Given the description of an element on the screen output the (x, y) to click on. 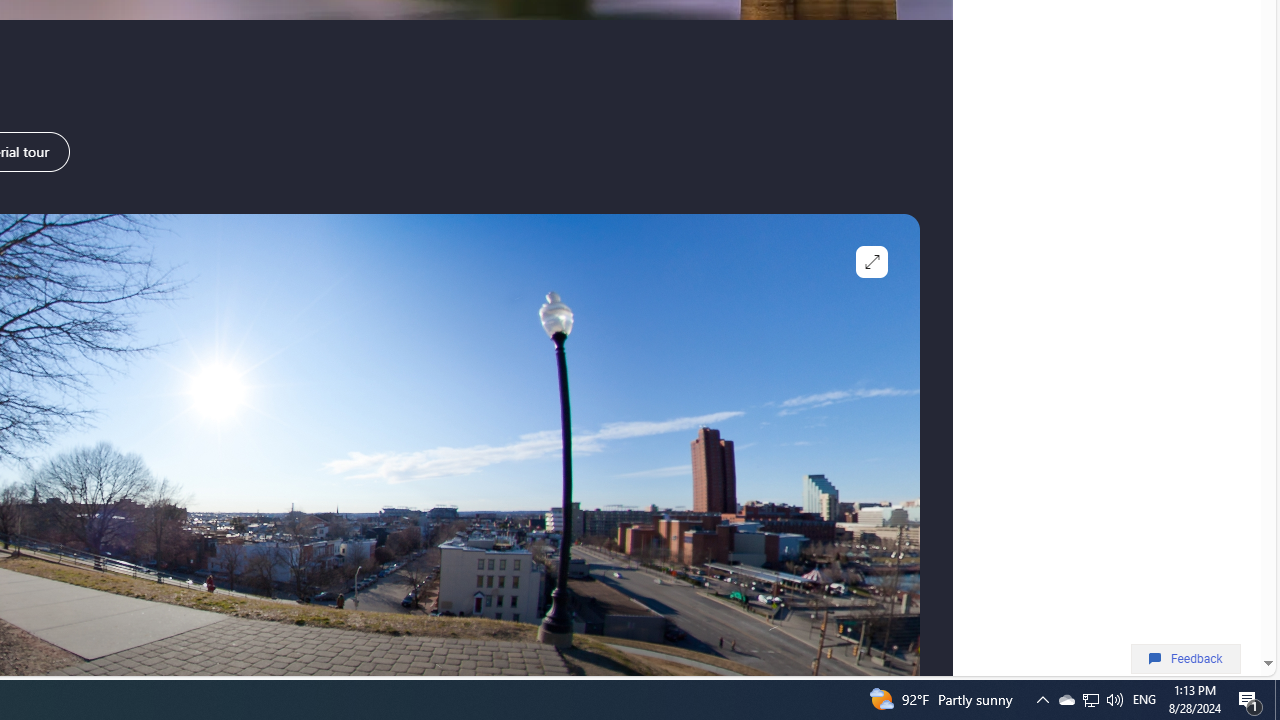
Full screen (872, 261)
